Given the description of an element on the screen output the (x, y) to click on. 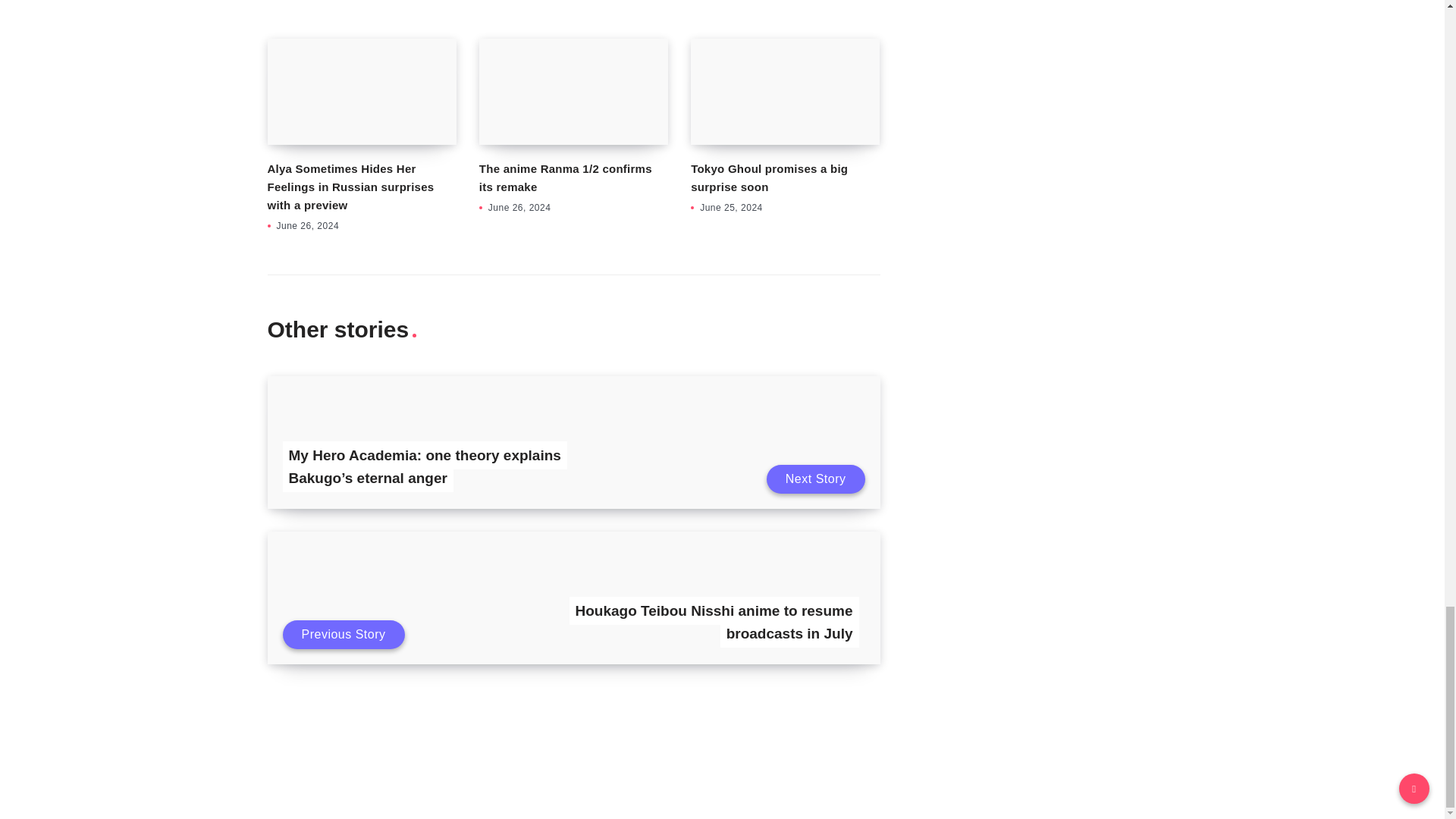
Tokyo Ghoul promises a big surprise soon (784, 91)
